Given the description of an element on the screen output the (x, y) to click on. 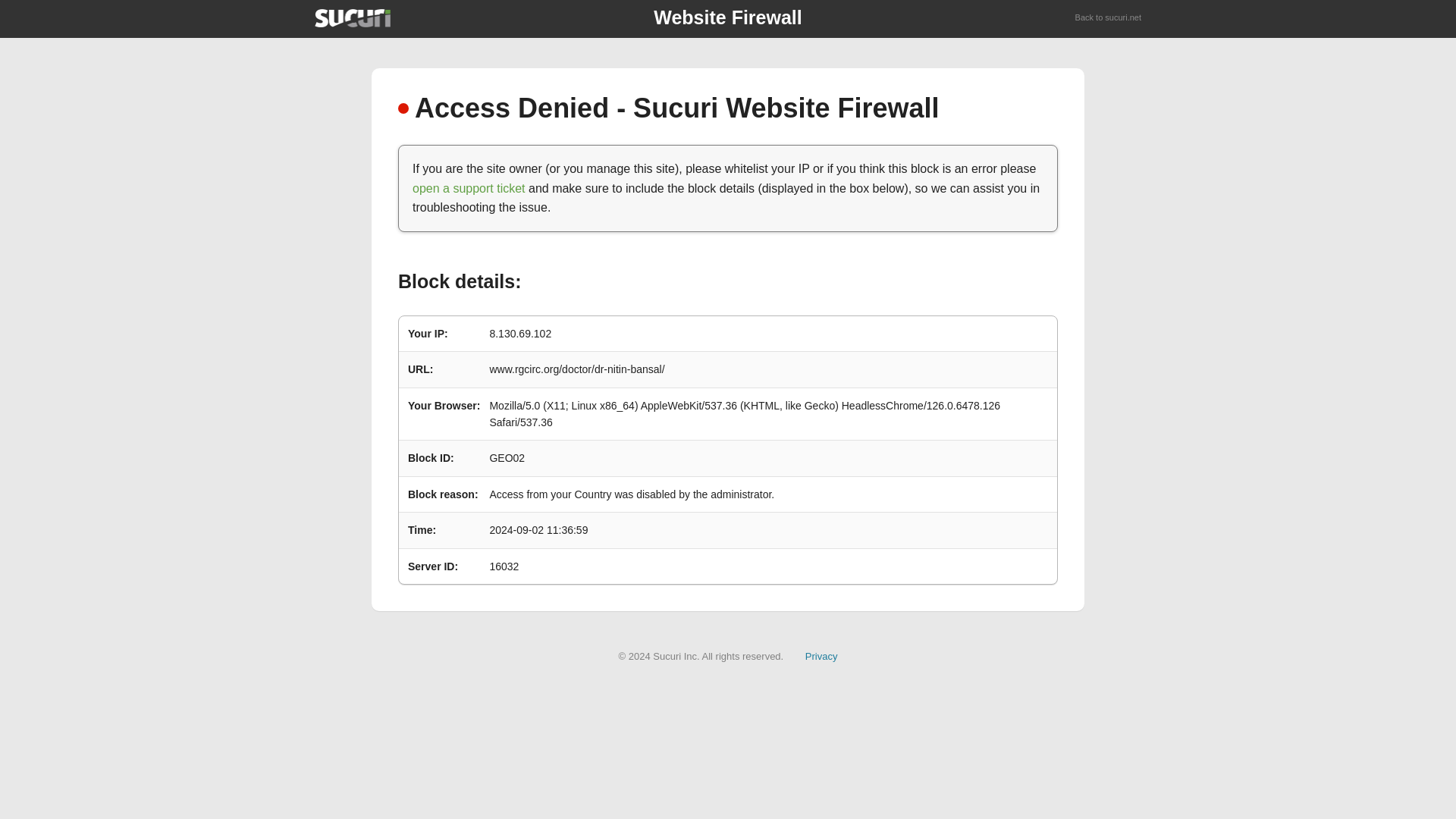
Privacy (821, 655)
open a support ticket (468, 187)
Back to sucuri.net (1108, 18)
